Given the description of an element on the screen output the (x, y) to click on. 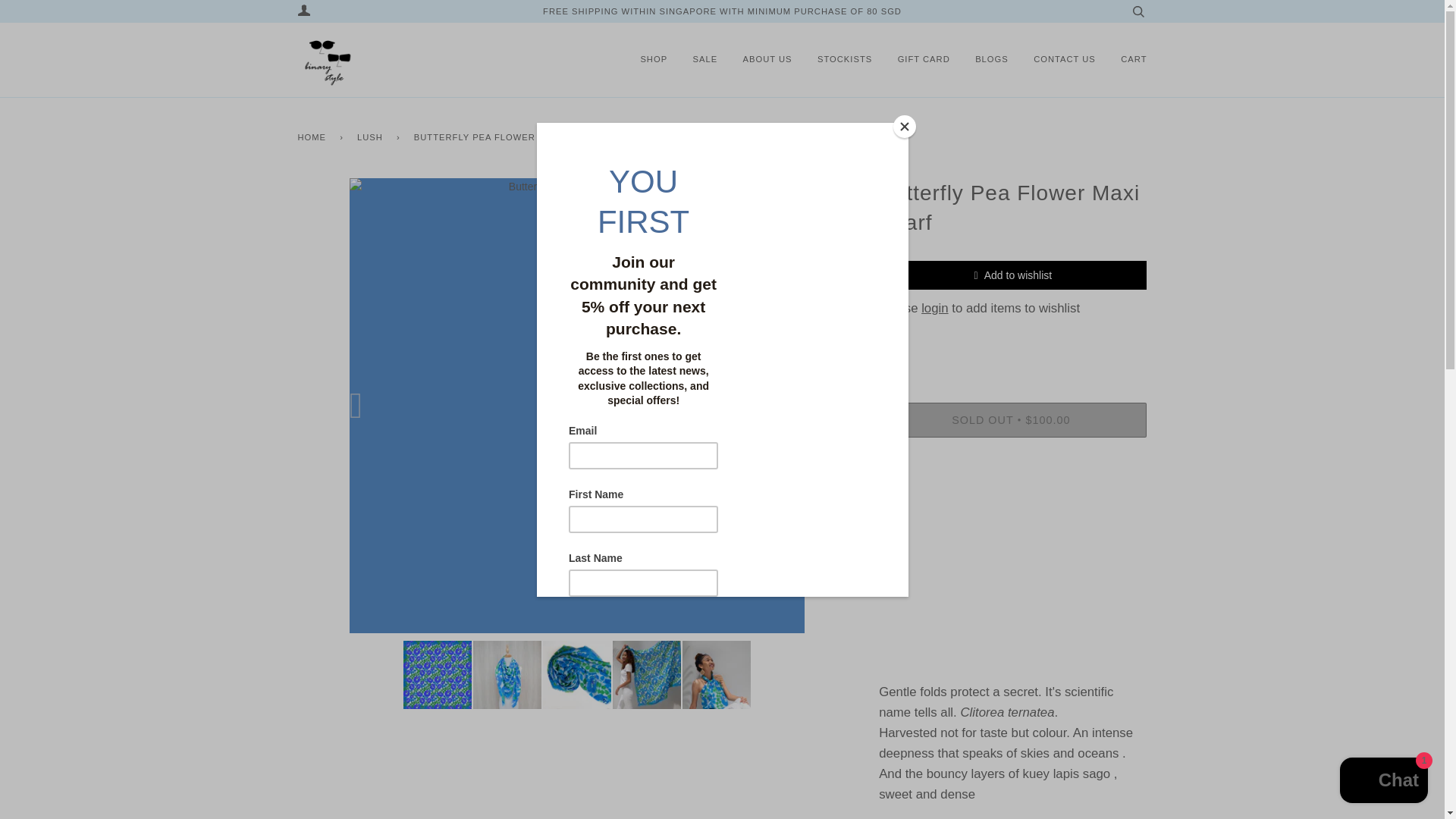
Shopify online store chat (1383, 781)
Back to the frontpage (314, 132)
